Given the description of an element on the screen output the (x, y) to click on. 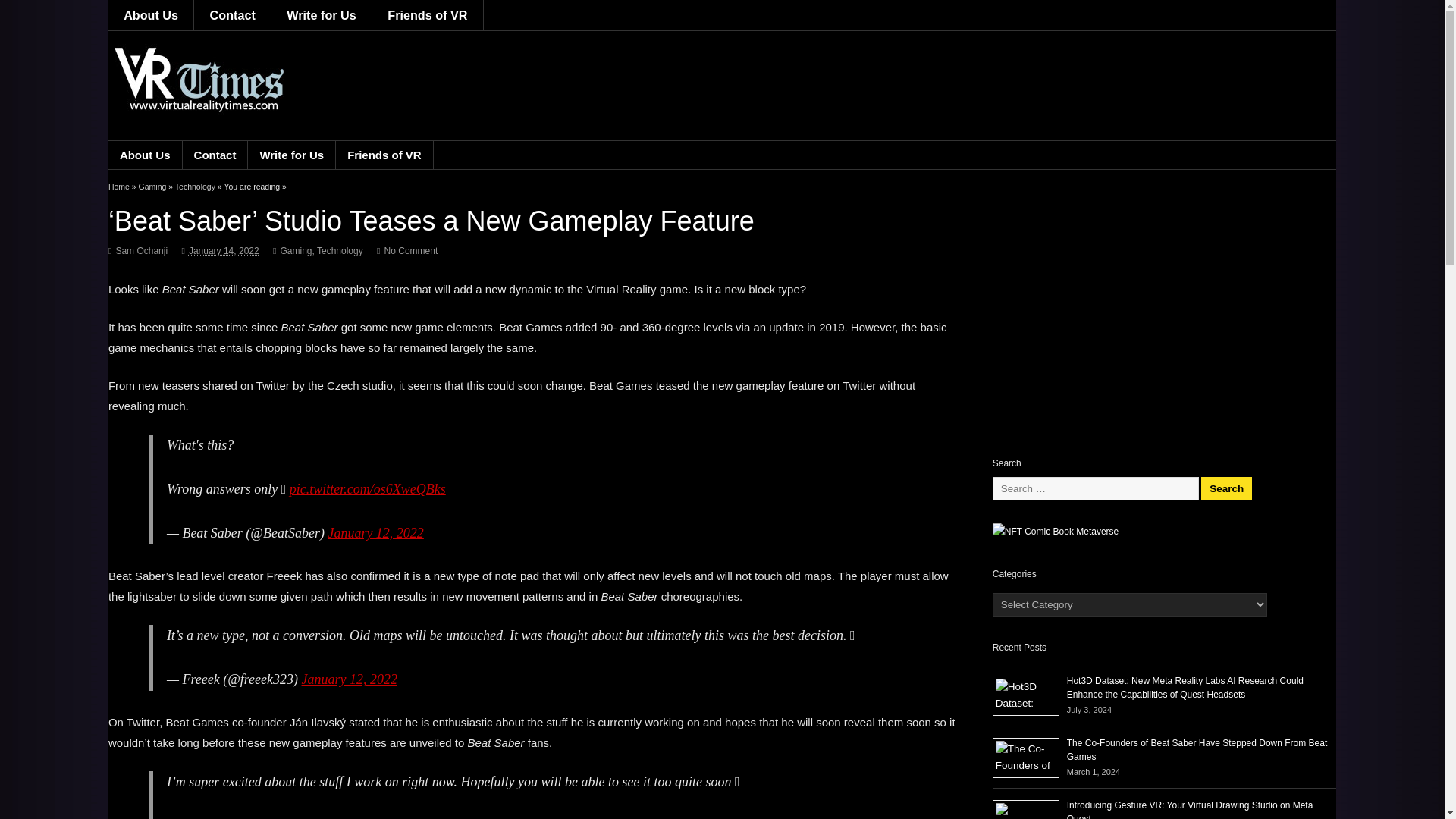
About Us (150, 15)
Friends of VR (427, 15)
Contact (231, 15)
Write for Us (321, 15)
Search (1226, 488)
Posts by Sam Ochanji (141, 250)
Search for: (1095, 487)
Search (1226, 488)
